Given the description of an element on the screen output the (x, y) to click on. 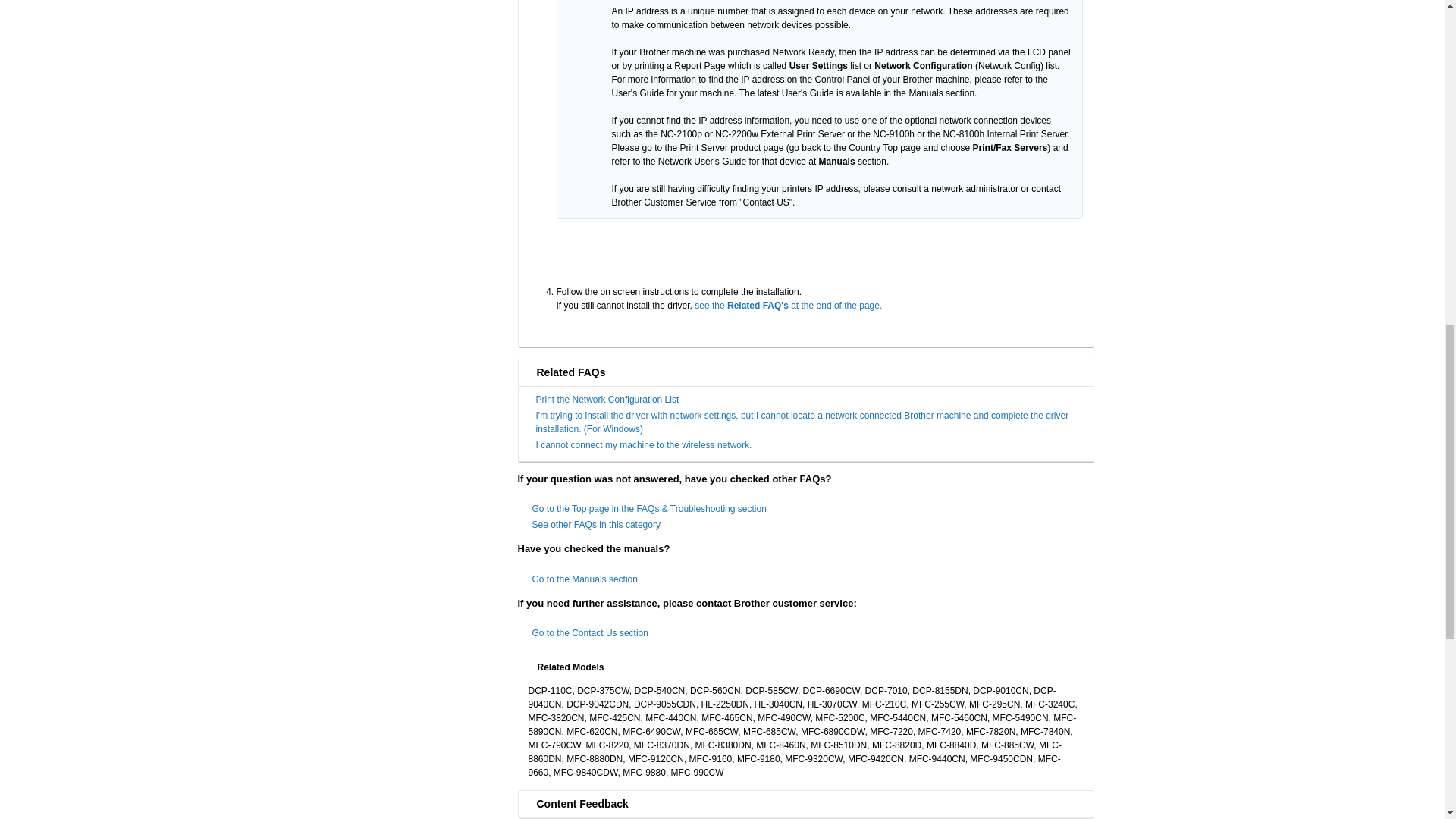
Go to the Manuals section (584, 579)
I cannot connect my machine to the wireless network. (643, 444)
see the Related FAQ's at the end of the page. (788, 305)
Go to the Contact Us section (589, 633)
Print the Network Configuration List (606, 398)
See other FAQs in this category (596, 524)
